Given the description of an element on the screen output the (x, y) to click on. 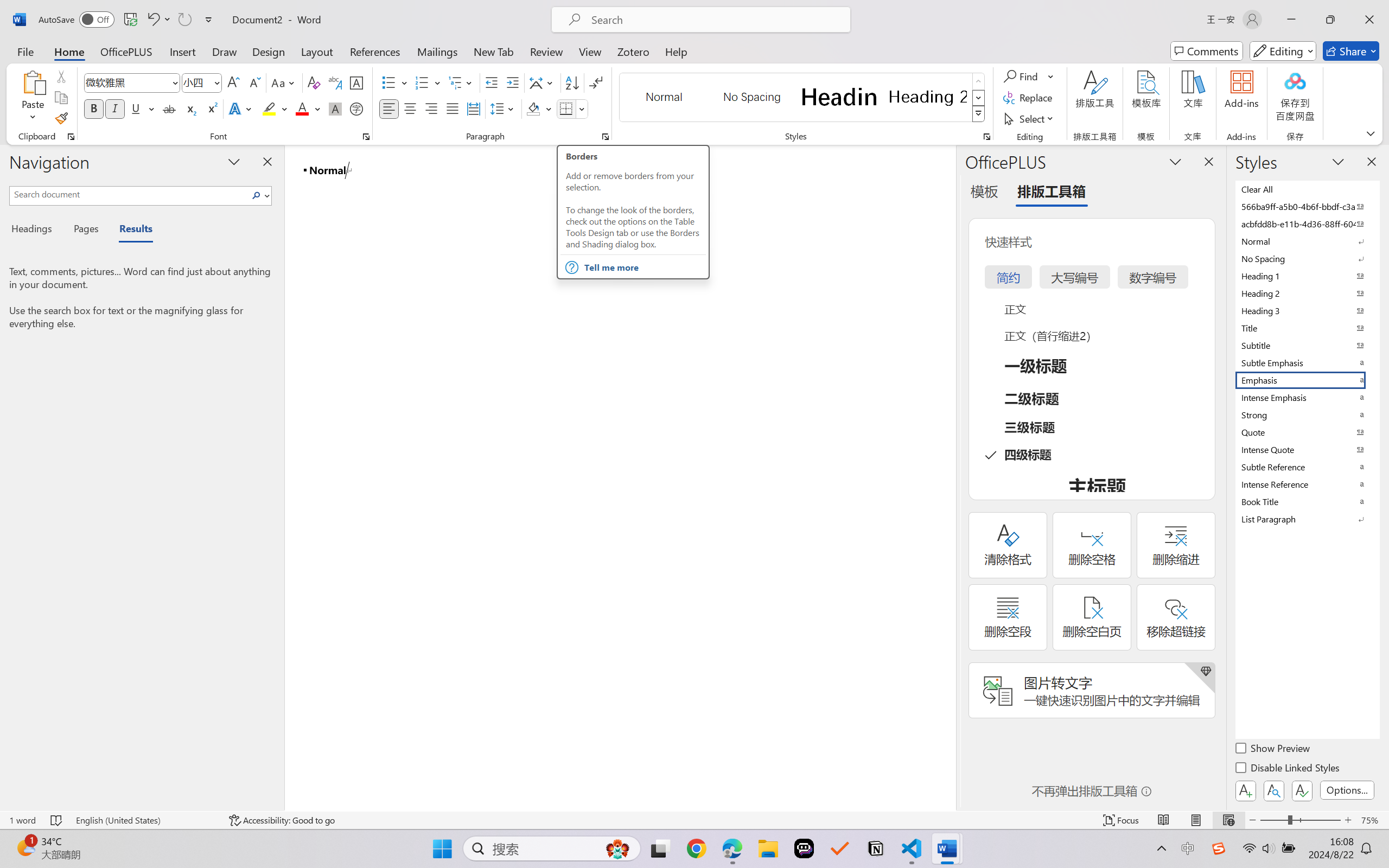
Shading RGB(0, 0, 0) (533, 108)
Design (268, 51)
Title (1306, 327)
Zoom In (1348, 819)
Task Pane Options (1175, 161)
View (589, 51)
Save (130, 19)
Paragraph... (605, 136)
Office Clipboard... (70, 136)
Font Color (308, 108)
Character Border (356, 82)
